Given the description of an element on the screen output the (x, y) to click on. 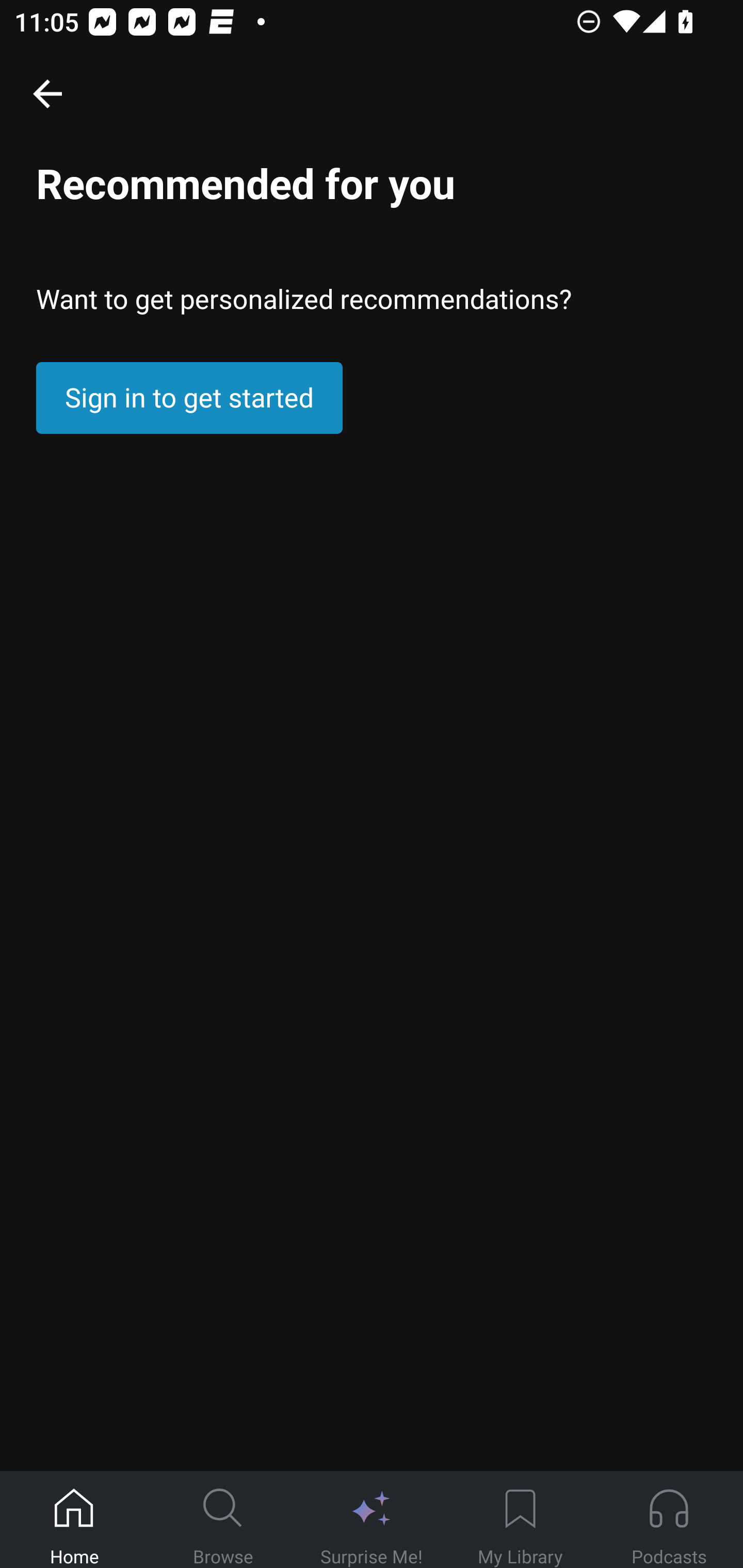
My Profile, back (47, 92)
Sign in to get started (189, 398)
Home (74, 1520)
Browse (222, 1520)
Surprise Me! (371, 1520)
My Library (519, 1520)
Podcasts (668, 1520)
